Given the description of an element on the screen output the (x, y) to click on. 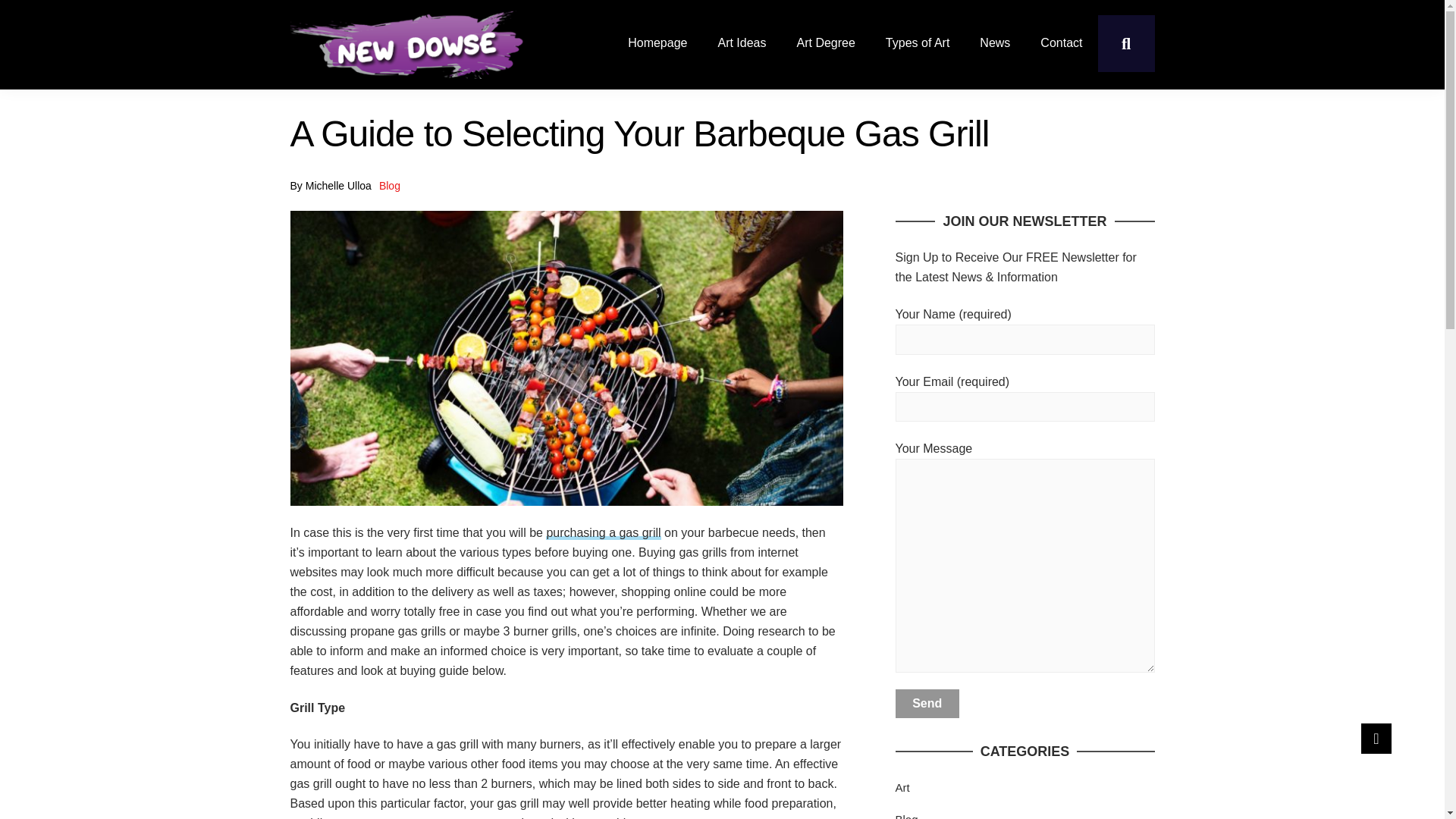
Michelle Ulloa (338, 185)
Send (926, 703)
Art (901, 787)
Types of Art (916, 43)
Contact (1061, 43)
Send (926, 703)
Homepage (656, 43)
Blog (389, 185)
News (994, 43)
Art Ideas (740, 43)
